Given the description of an element on the screen output the (x, y) to click on. 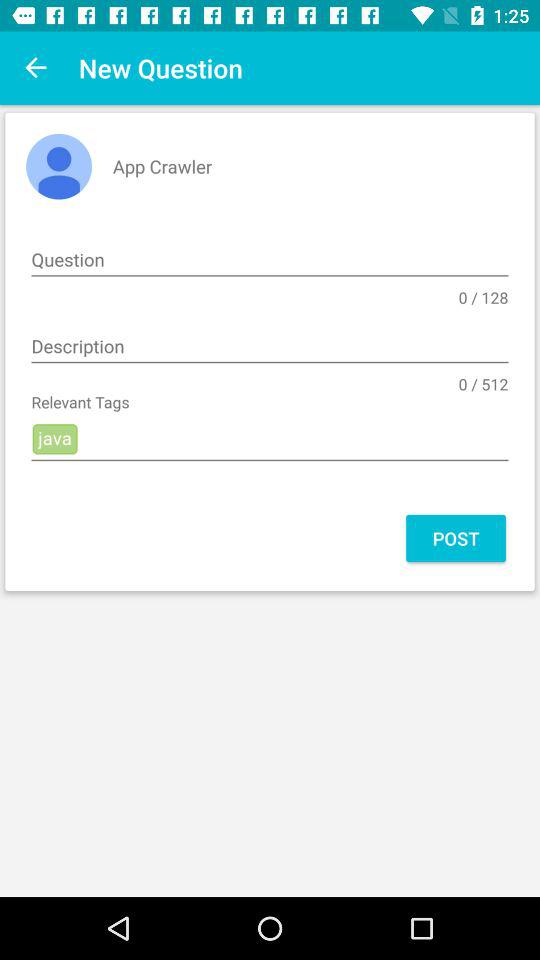
swipe to java  icon (269, 439)
